Given the description of an element on the screen output the (x, y) to click on. 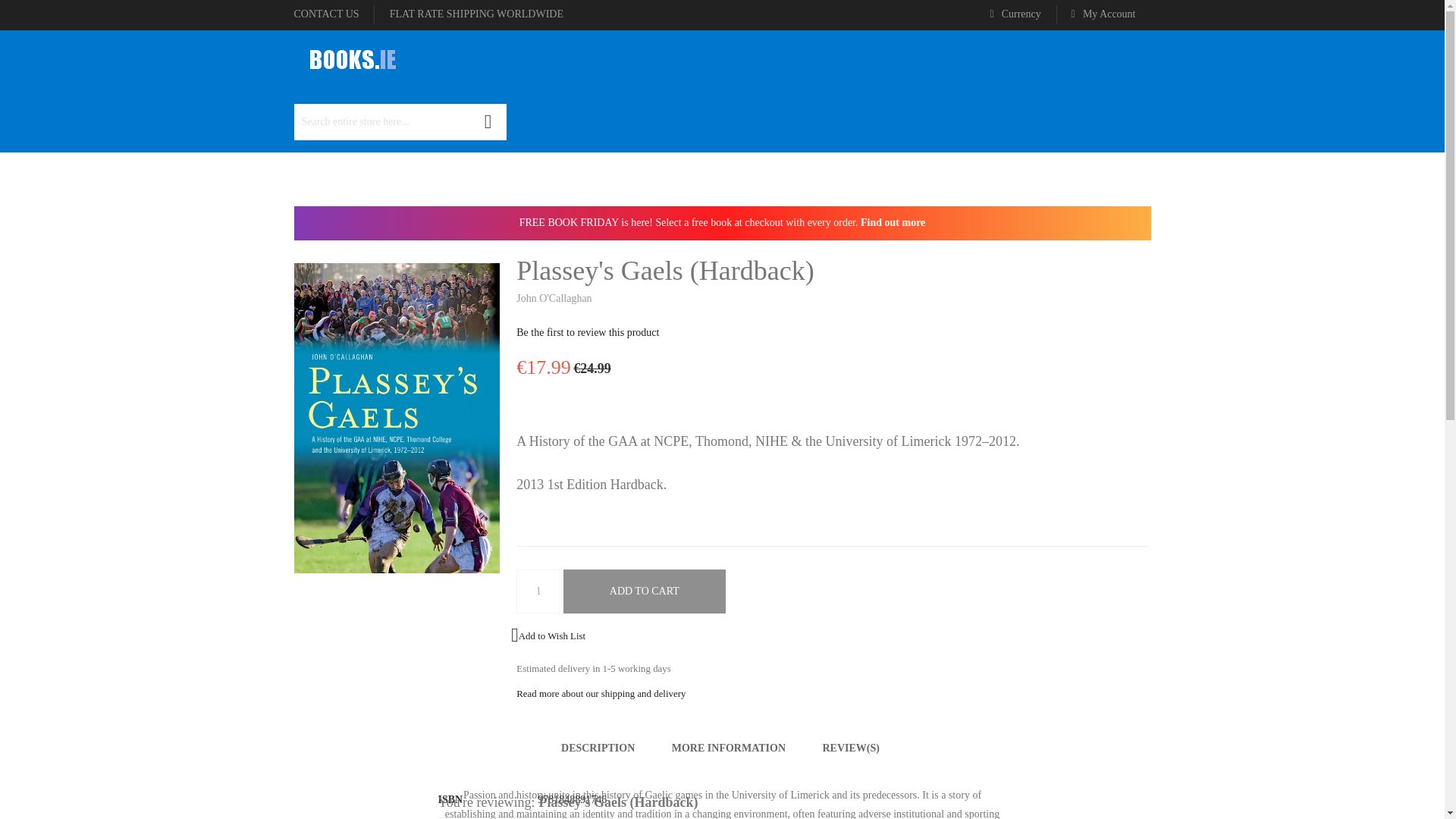
Qty (538, 591)
Contact us (326, 13)
Add to Cart (644, 591)
BOOKS.IE (351, 59)
BOOKS.IE (351, 60)
CONTACT US (326, 13)
Shipping and delivery (476, 13)
1 (538, 591)
Search (488, 122)
FLAT RATE SHIPPING WORLDWIDE (476, 13)
